Given the description of an element on the screen output the (x, y) to click on. 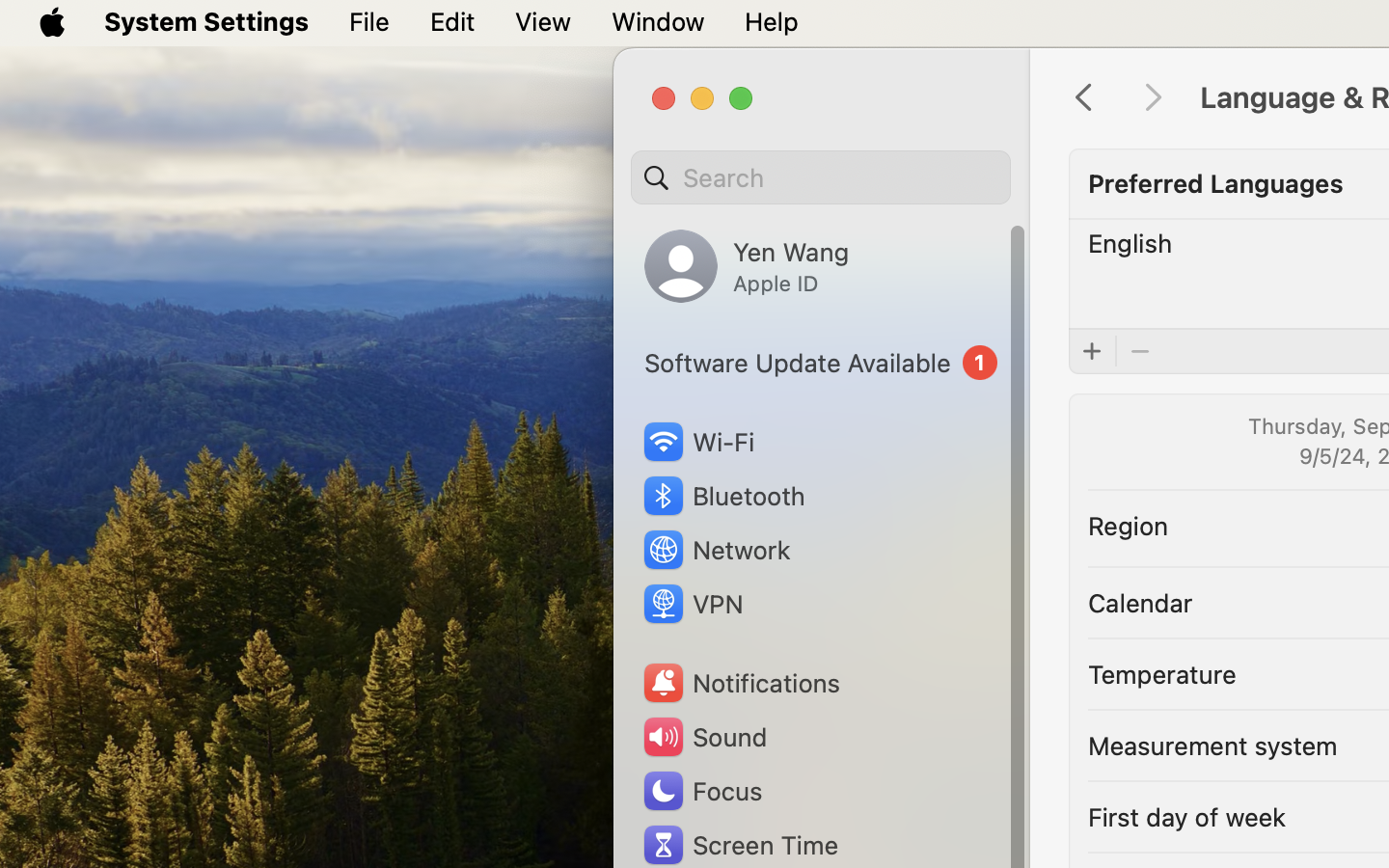
Notifications Element type: AXStaticText (740, 682)
